Given the description of an element on the screen output the (x, y) to click on. 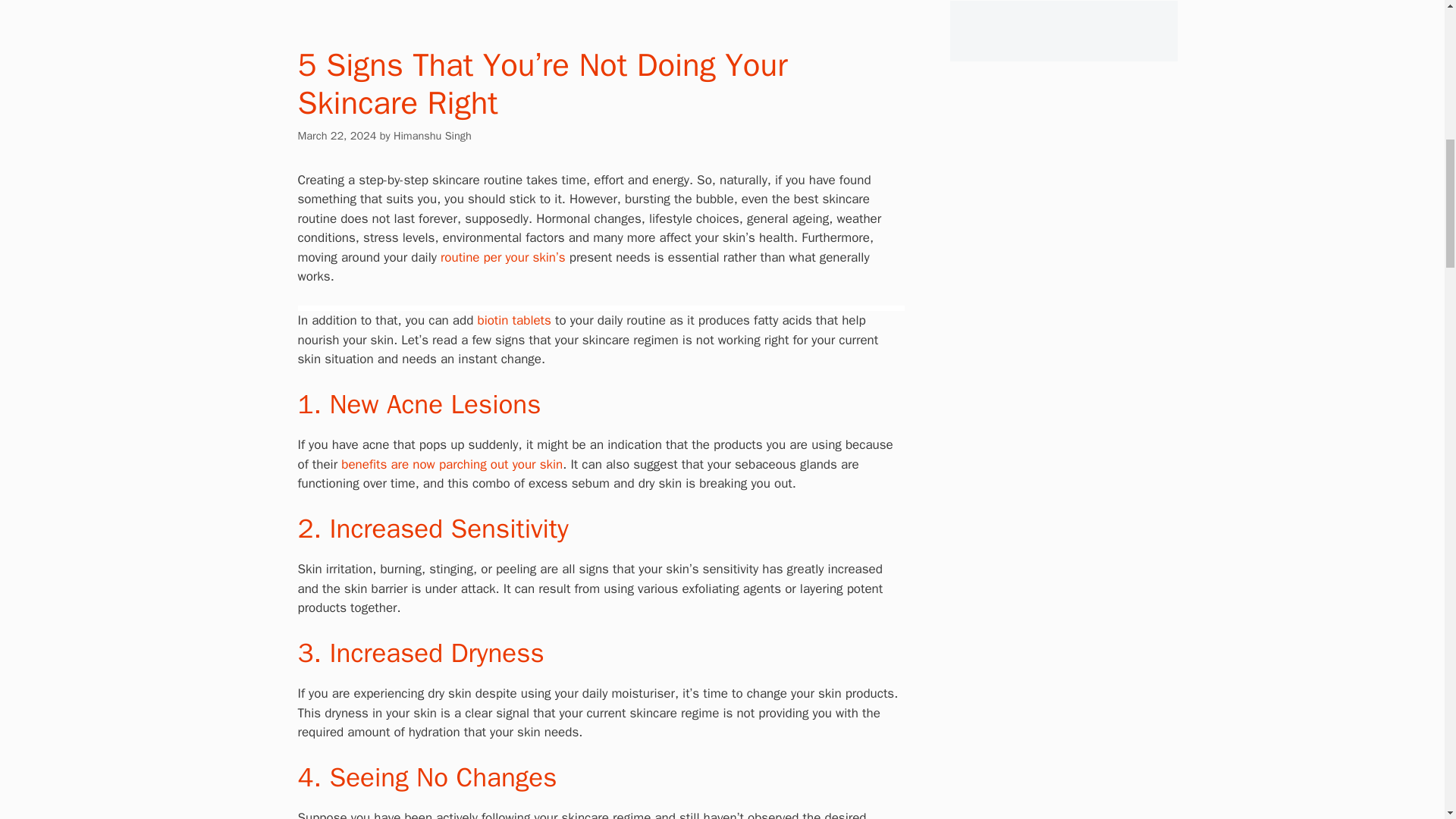
biotin tablets (513, 320)
Himanshu Singh (432, 135)
View all posts by Himanshu Singh (432, 135)
benefits are now parching out your skin (451, 464)
